Given the description of an element on the screen output the (x, y) to click on. 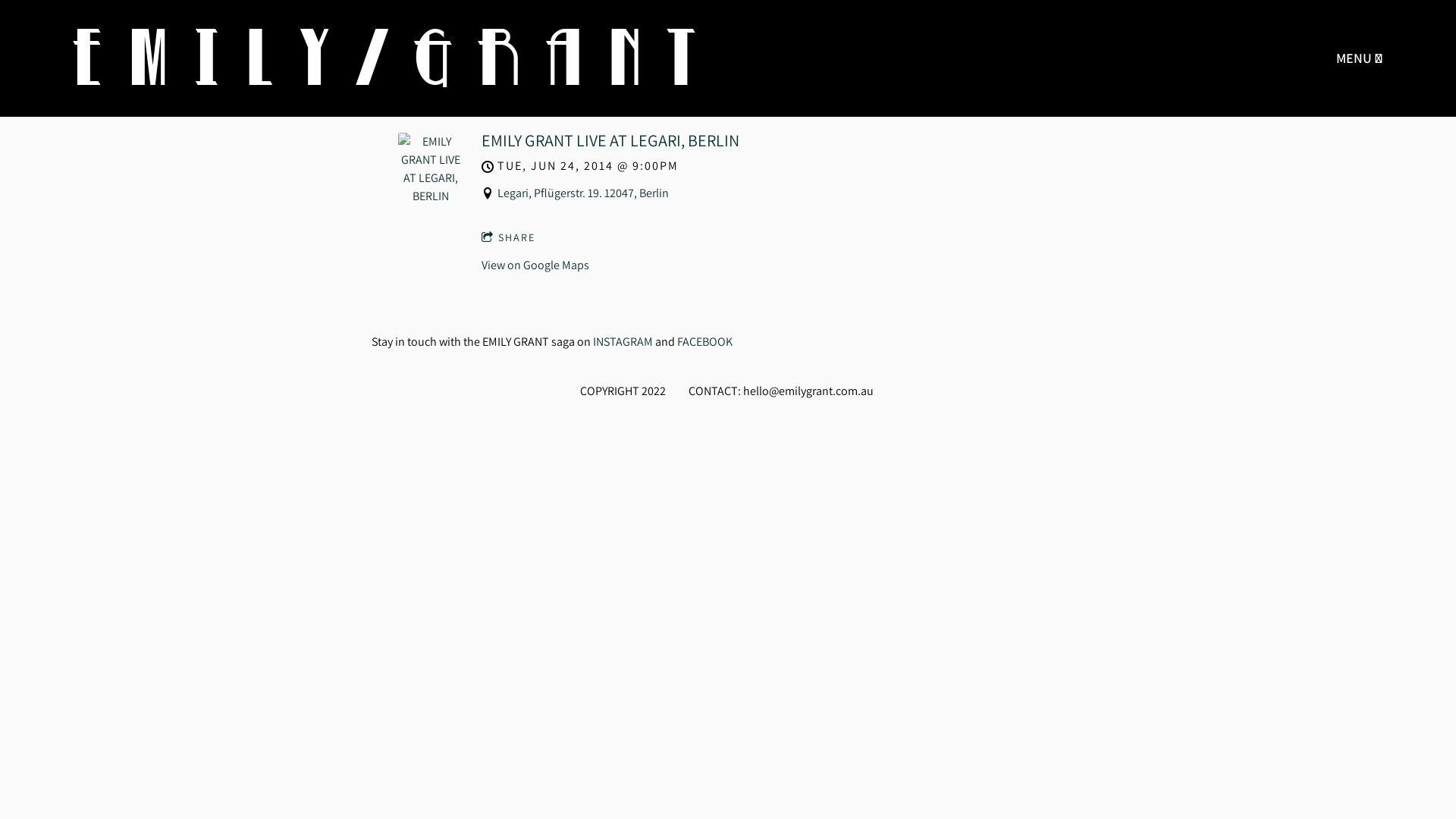
EMILY/GRANT Element type: text (395, 57)
FACEBOOK Element type: text (704, 341)
EMILY GRANT LIVE AT LEGARI, BERLIN Element type: hover (430, 195)
View on Google Maps Element type: text (535, 265)
INSTAGRAM Element type: text (622, 341)
SHARE Element type: text (508, 237)
MENU Element type: text (1359, 57)
EMILY GRANT LIVE AT LEGARI, BERLIN Element type: text (610, 139)
